Given the description of an element on the screen output the (x, y) to click on. 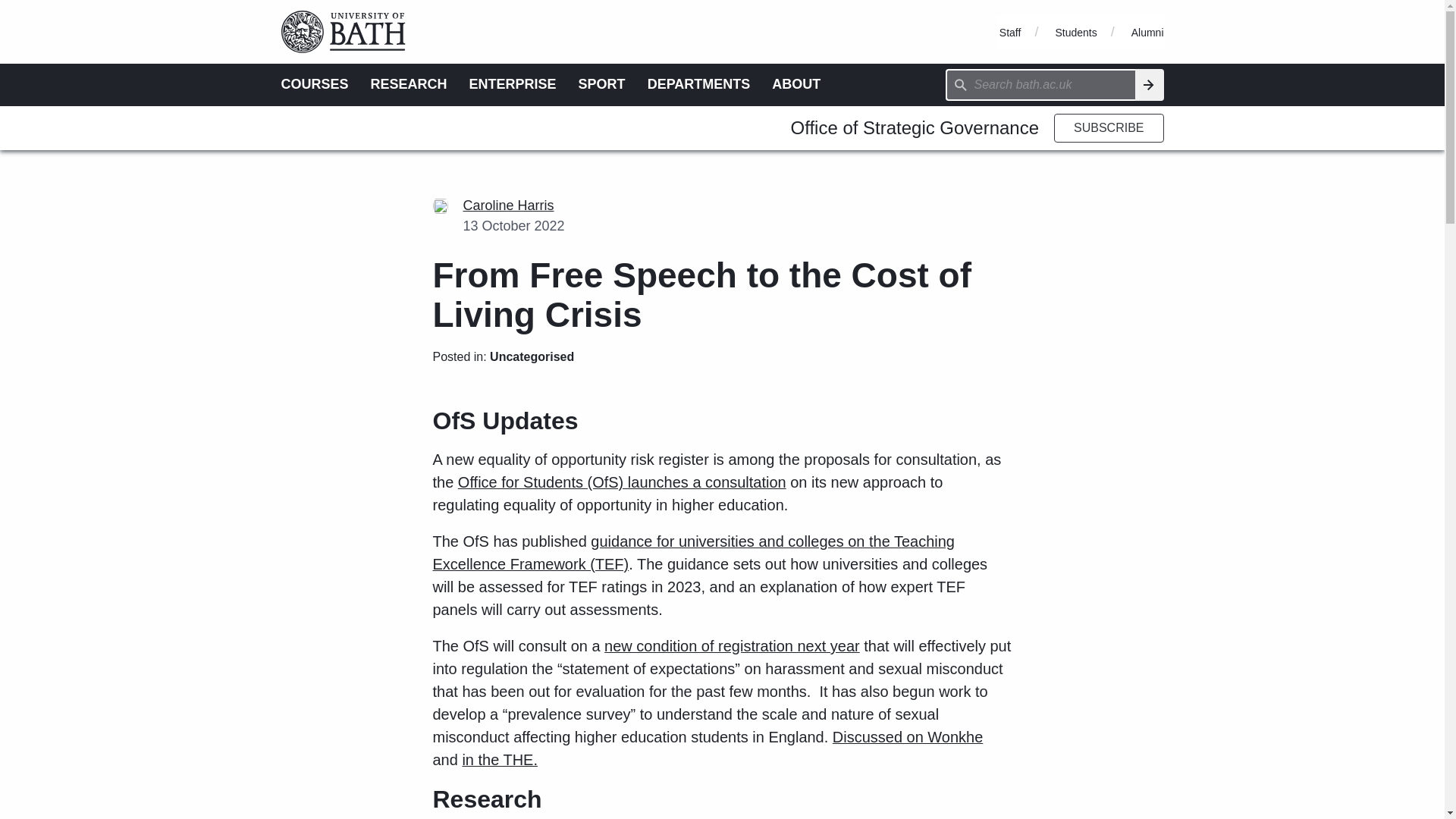
University of Bath (348, 6)
Office of Strategic Governance (914, 127)
SUBSCRIBE (1108, 127)
in the THE. (499, 759)
ENTERPRISE (512, 83)
new condition of registration next year (732, 646)
COURSES (314, 83)
ABOUT (796, 83)
Alumni (1147, 32)
RESEARCH (408, 83)
Discussed on Wonkhe (907, 736)
Type search term here (1039, 84)
SPORT (602, 83)
DEPARTMENTS (699, 83)
Staff (1010, 32)
